Given the description of an element on the screen output the (x, y) to click on. 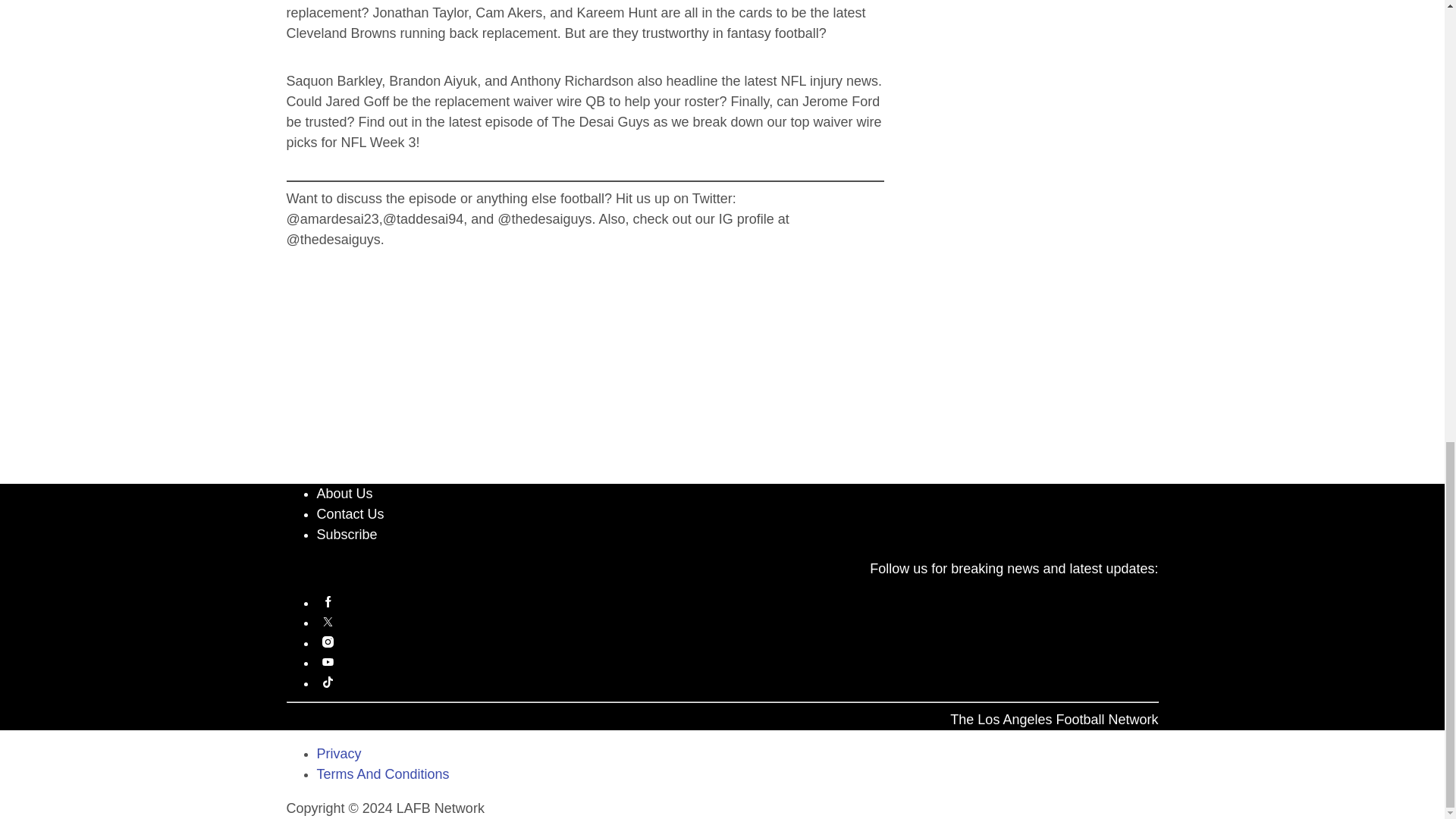
Follow us on Instagram (737, 641)
Connect with us on TikTok (737, 681)
Follow us on Twitter (737, 621)
Follow us on Facebook (737, 601)
Subscribe to our YouTube channel (737, 661)
